Given the description of an element on the screen output the (x, y) to click on. 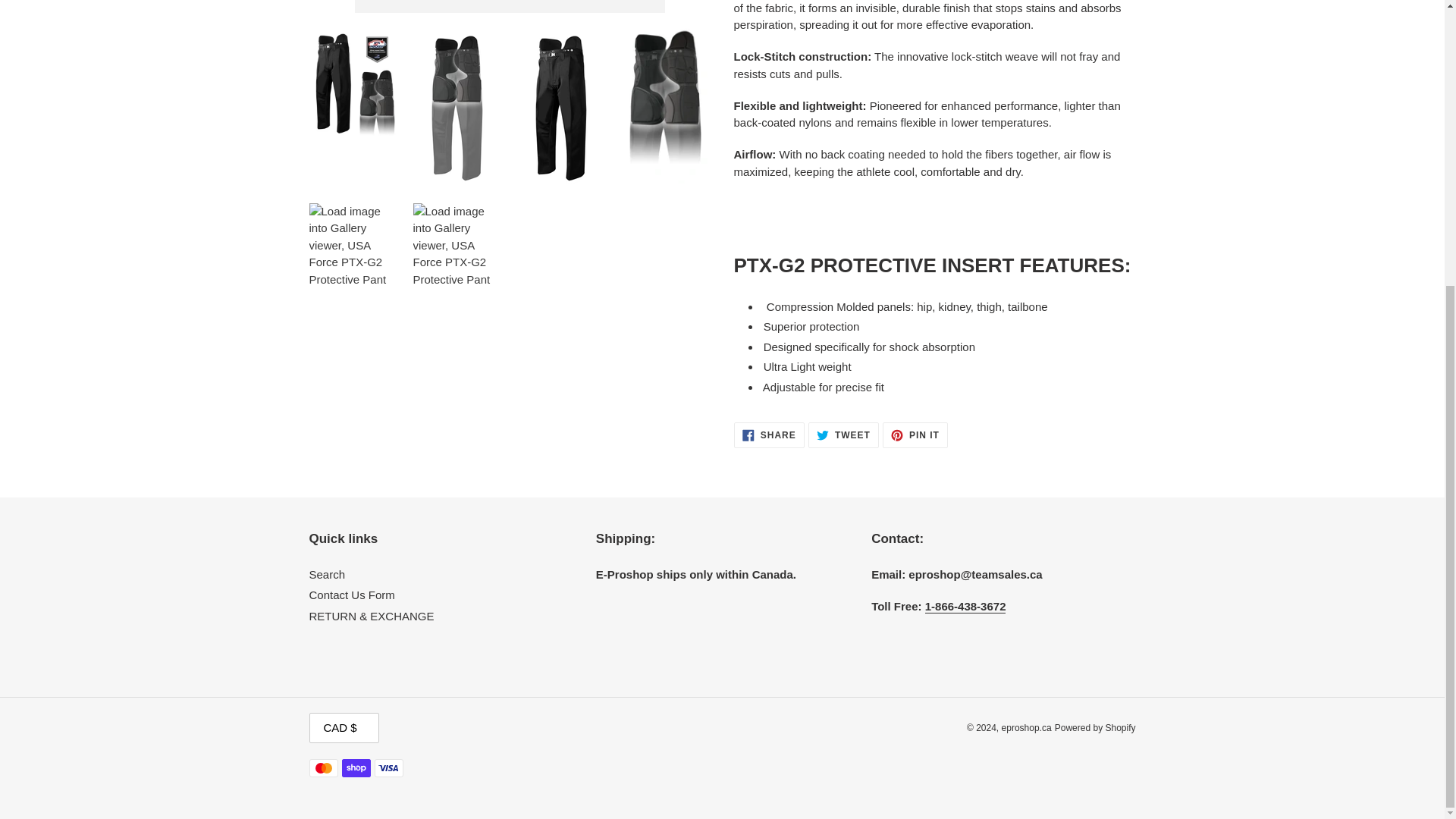
Visa (388, 768)
Mastercard (322, 768)
Shop Pay (354, 768)
tel:1-866-438-3672 (965, 606)
